Given the description of an element on the screen output the (x, y) to click on. 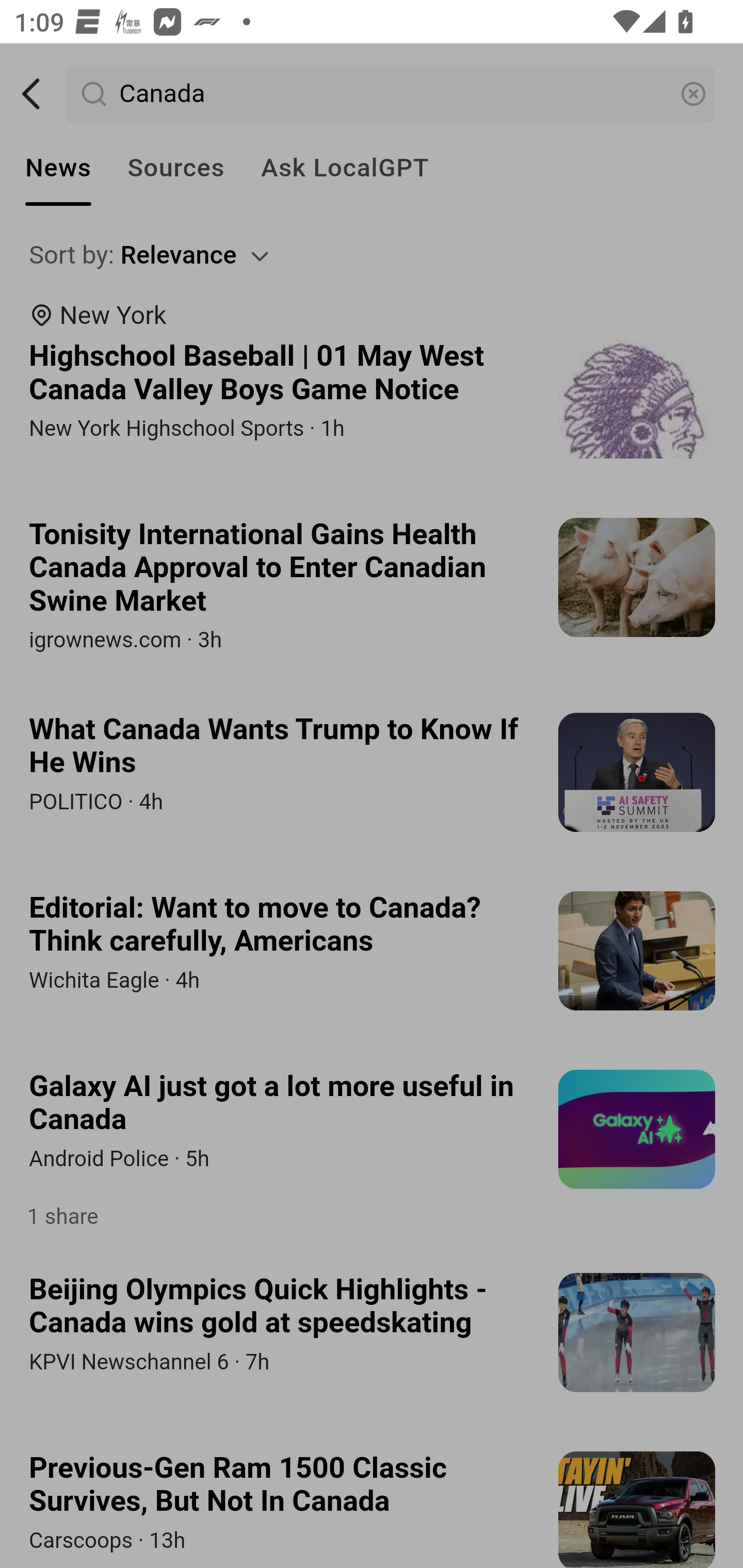
Canada (390, 93)
News (58, 168)
Sources (175, 168)
Ask LocalGPT (344, 168)
Sort by:  Relevance (372, 254)
